Given the description of an element on the screen output the (x, y) to click on. 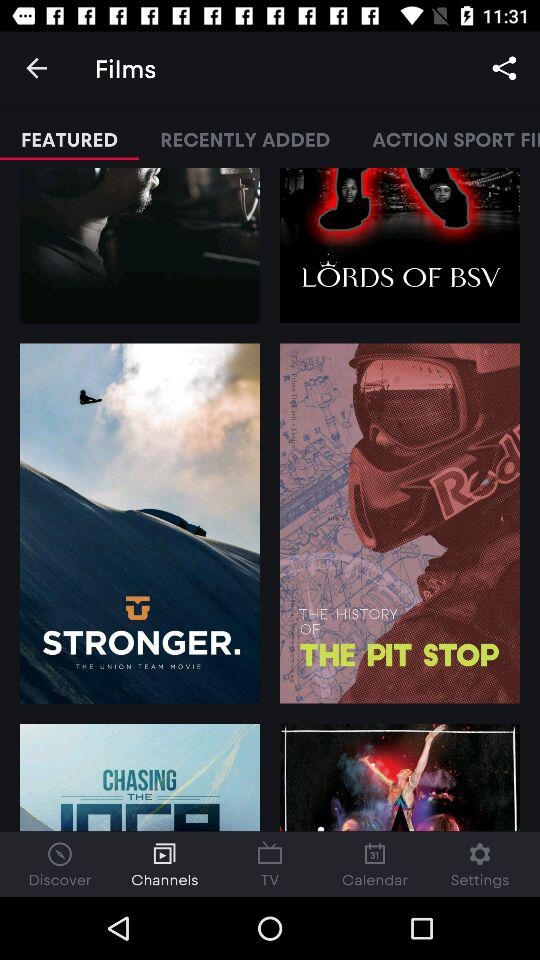
open icon next to films icon (36, 68)
